Given the description of an element on the screen output the (x, y) to click on. 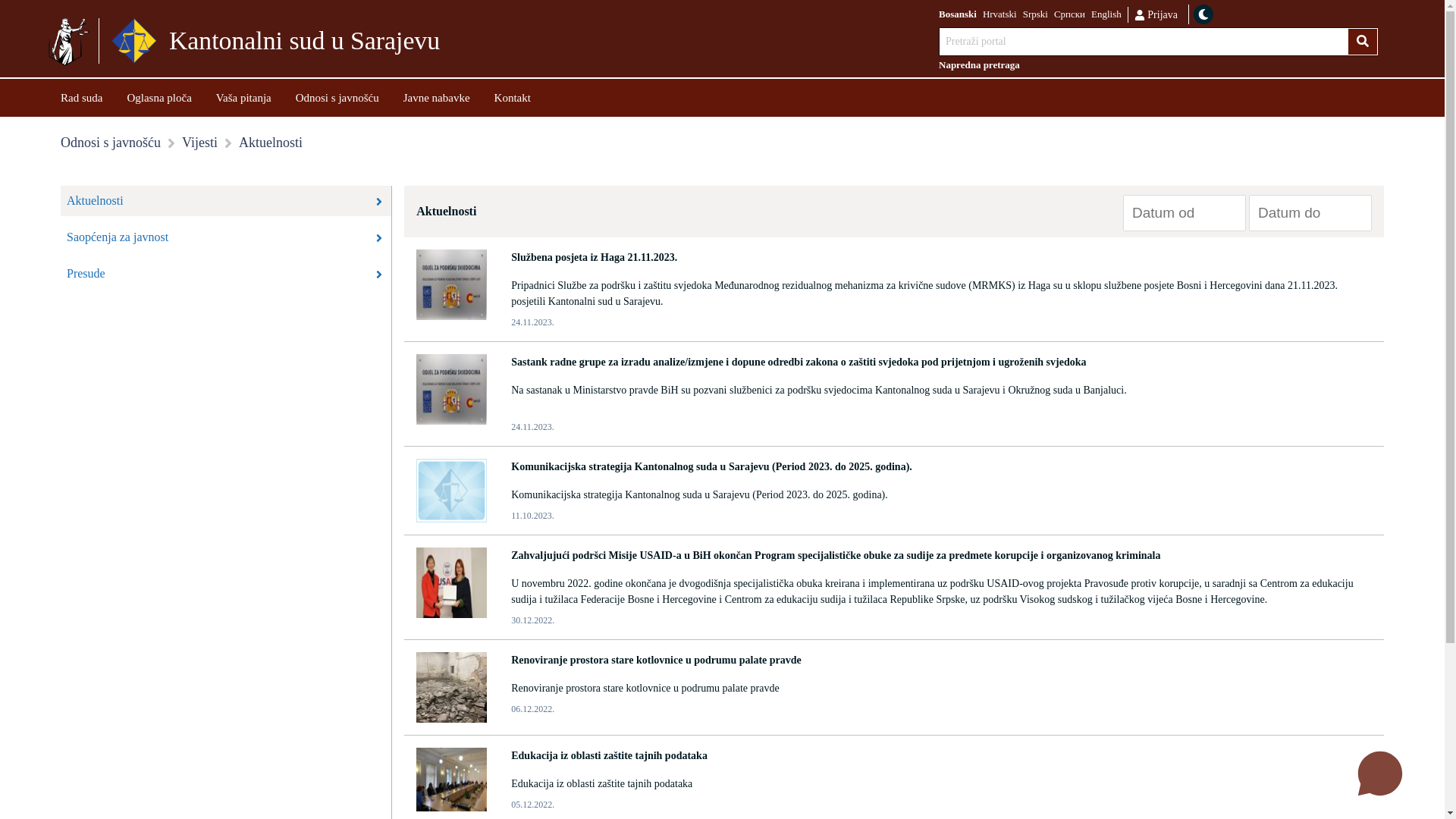
Aktuelnosti Element type: text (225, 200)
Javne nabavke Element type: text (436, 97)
Kontakt Element type: text (512, 97)
Presude Element type: text (225, 273)
Napredna pretraga Element type: text (1157, 65)
Rad suda Element type: text (81, 97)
Vijesti Element type: text (199, 142)
Prijava Element type: text (1155, 13)
